Given the description of an element on the screen output the (x, y) to click on. 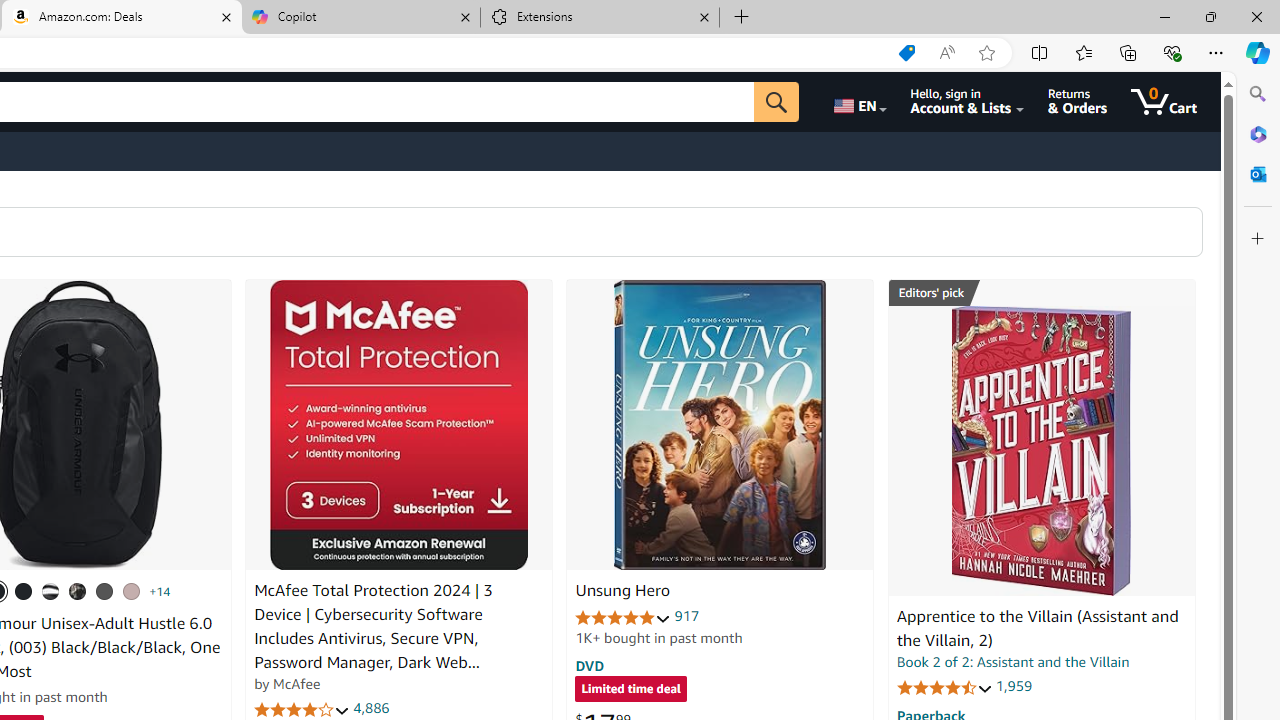
4.6 out of 5 stars (944, 686)
Editors' pick Best Science Fiction & Fantasy (1041, 293)
Apprentice to the Villain (Assistant and the Villain, 2) (1041, 451)
0 items in cart (1163, 101)
Book 2 of 2: Assistant and the Villain (1013, 662)
4.1 out of 5 stars (301, 709)
917 (687, 616)
(005) Black Full Heather / Black / Metallic Gold (104, 591)
